Given the description of an element on the screen output the (x, y) to click on. 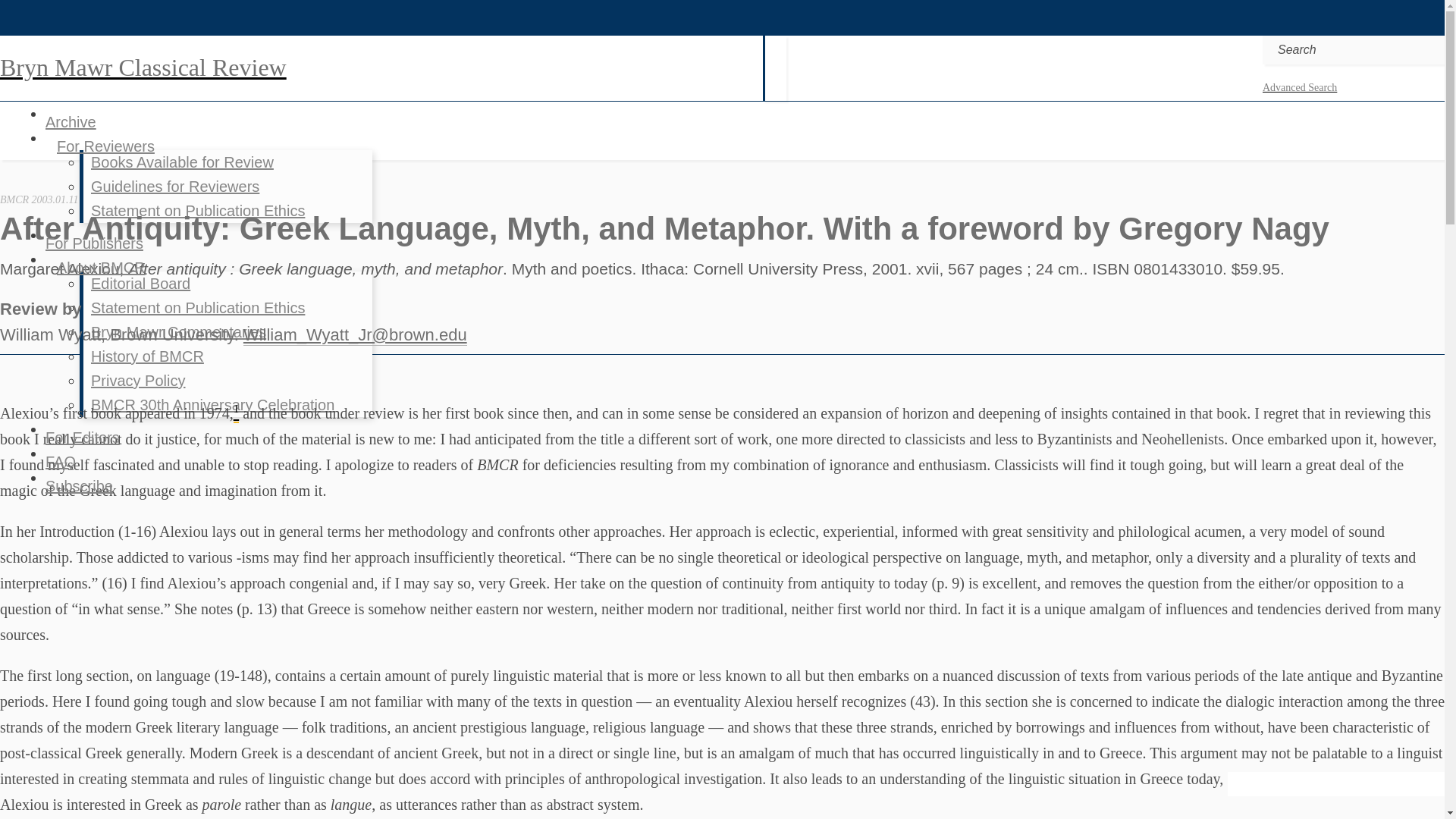
Statement on Publication Ethics (197, 210)
BMCR 30th Anniversary Celebration (212, 404)
History of BMCR (146, 356)
For Reviewers (105, 146)
BMCR 30th Anniversary Celebration (212, 404)
Books Available for Review (181, 162)
For Reviewers (105, 146)
Statement on Publication Ethics (197, 307)
Archive (70, 121)
Archive (70, 121)
Statement on Publication Ethics (197, 307)
Subscribe (79, 485)
FAQ (60, 461)
For Editors (82, 437)
Guidelines for Reviewers (174, 186)
